Given the description of an element on the screen output the (x, y) to click on. 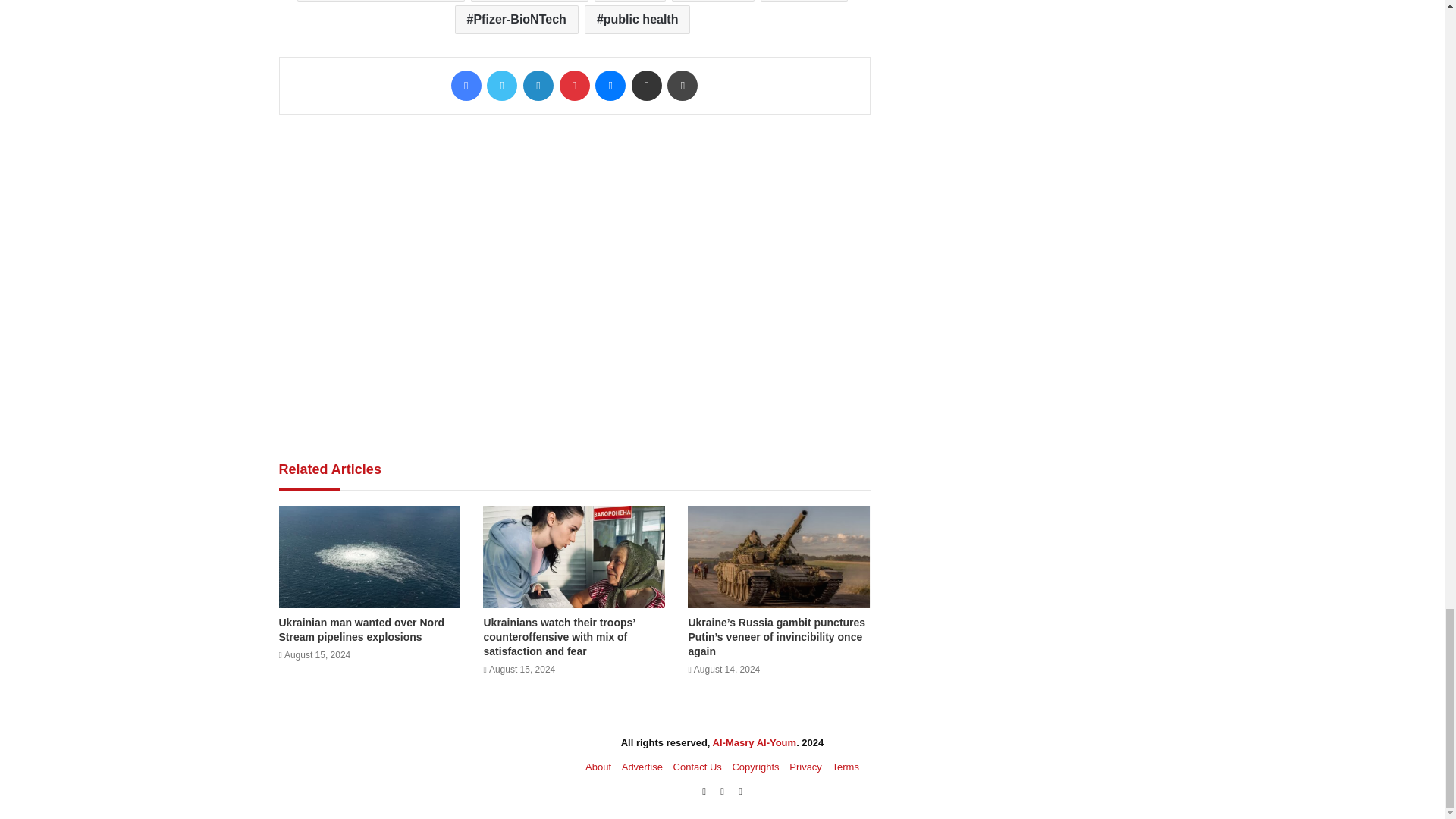
Facebook (466, 85)
outbreak (712, 0)
LinkedIn (537, 85)
COVID vaccine (529, 0)
Pinterest (574, 85)
public health (637, 19)
LinkedIn (537, 85)
Messenger (610, 85)
Twitter (501, 85)
Pfizer-BioNTech (516, 19)
